Given the description of an element on the screen output the (x, y) to click on. 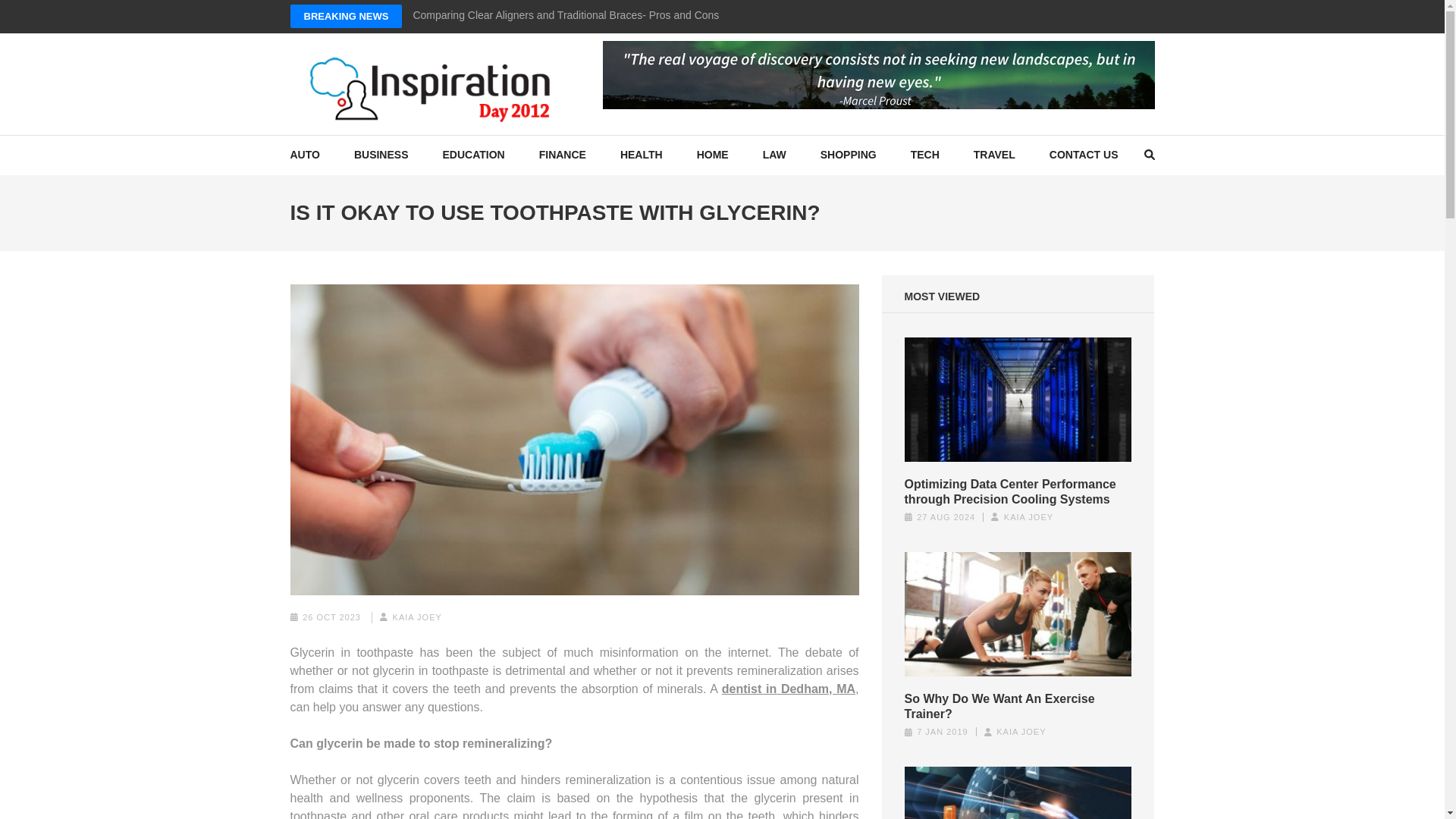
HEALTH (641, 154)
FINANCE (562, 154)
KAIA JOEY (417, 616)
BUSINESS (381, 154)
26 OCT 2023 (331, 616)
CONTACT US (1083, 154)
TRAVEL (994, 154)
EDUCATION (473, 154)
SHOPPING (848, 154)
